Given the description of an element on the screen output the (x, y) to click on. 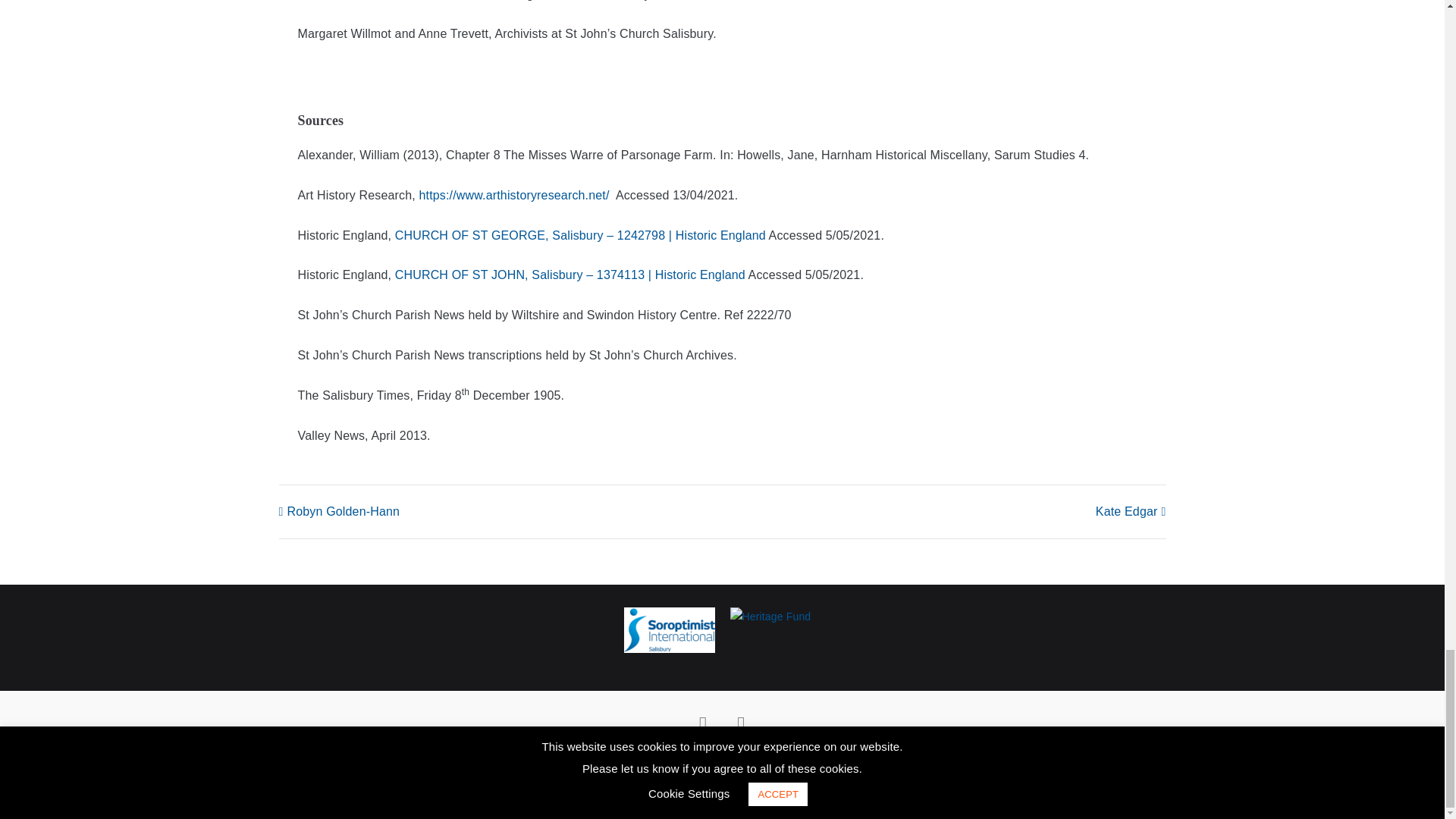
Kate Edgar (1131, 511)
soroptimistint-salisbury-logo (668, 629)
Privacy Policy (683, 761)
Robyn Golden-Hann (339, 511)
Cookie Policy (761, 761)
